Given the description of an element on the screen output the (x, y) to click on. 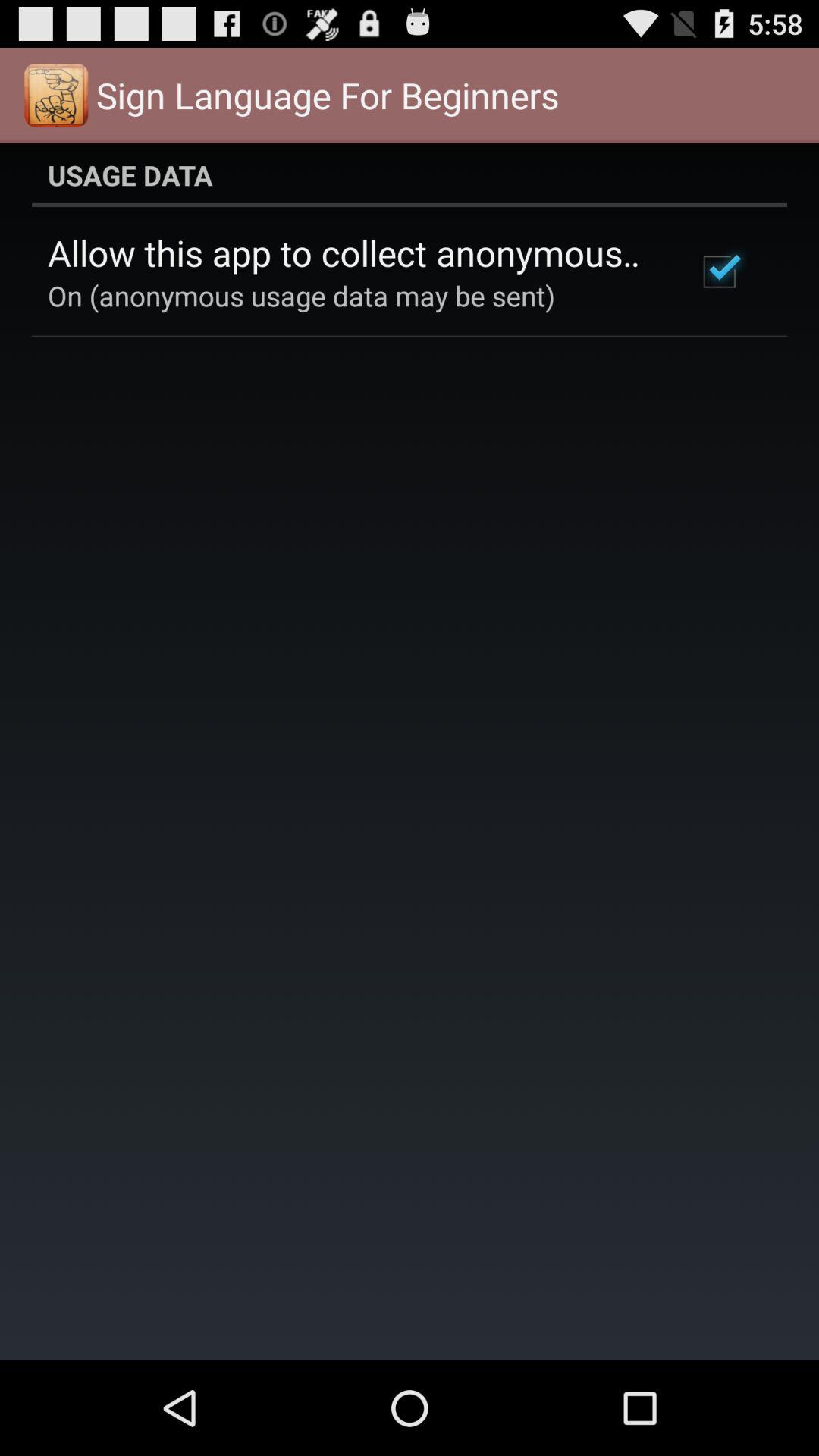
select app to the right of allow this app app (719, 271)
